Given the description of an element on the screen output the (x, y) to click on. 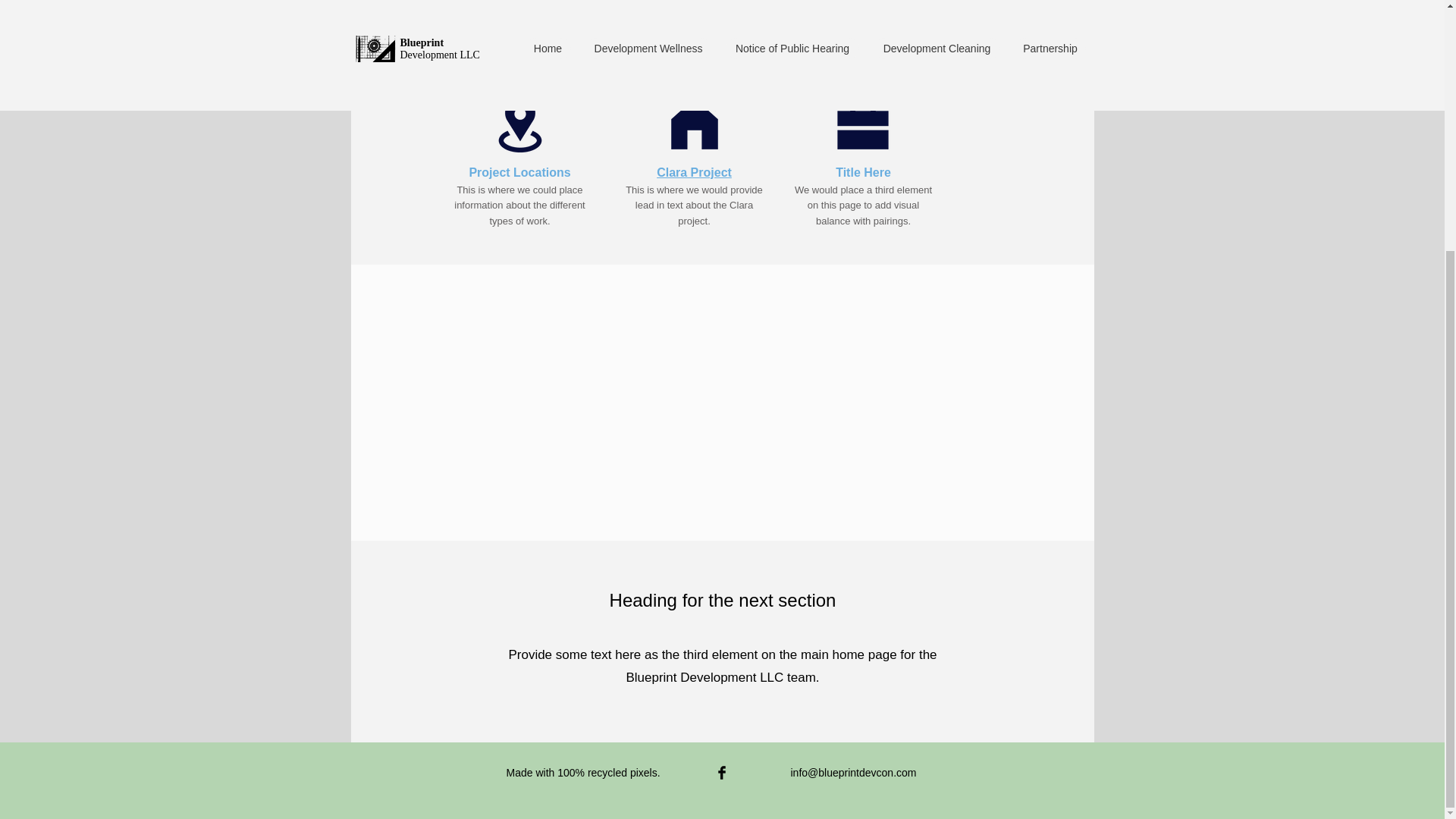
Clara Project (694, 172)
